Given the description of an element on the screen output the (x, y) to click on. 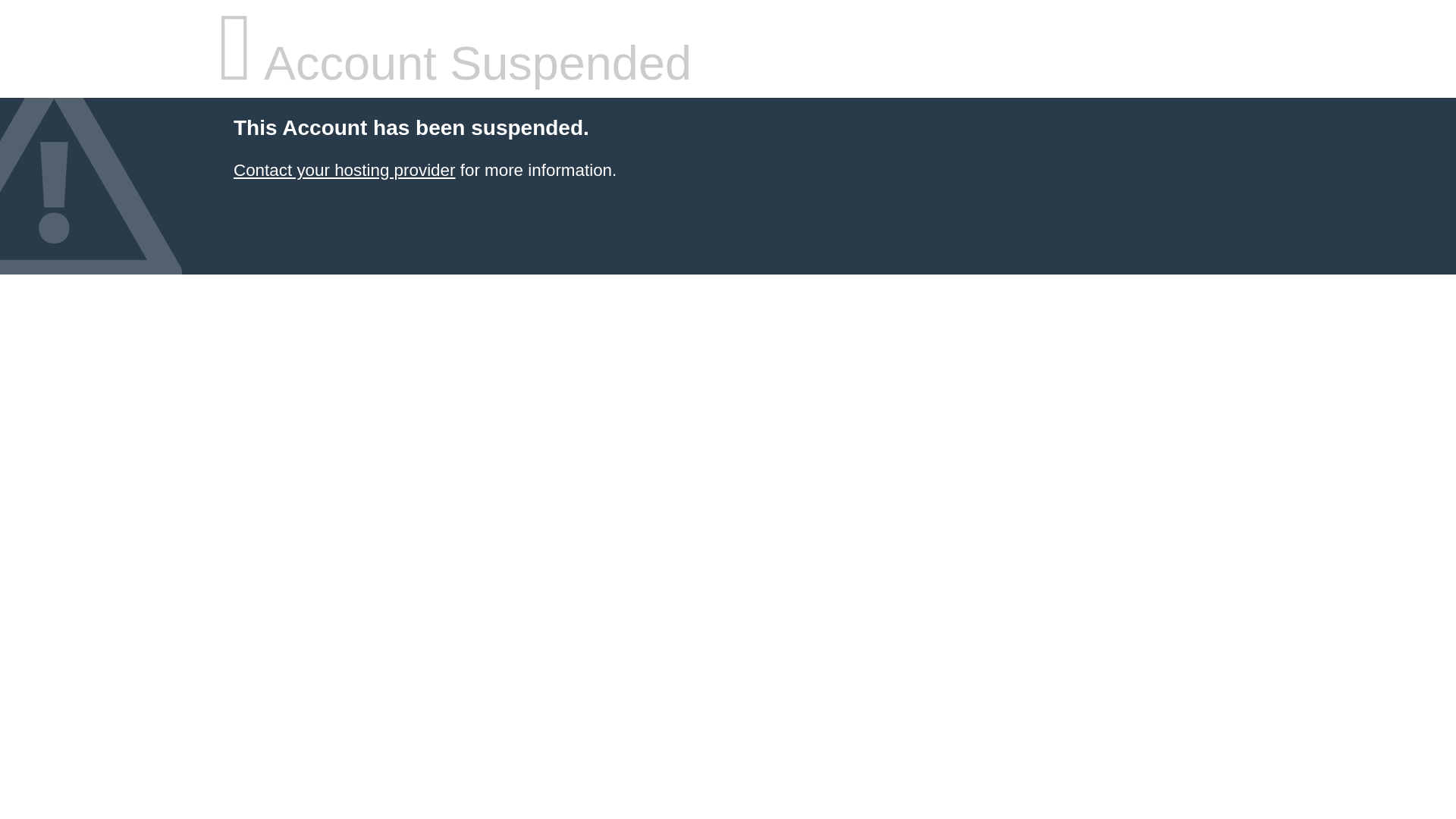
Contact your hosting provider (343, 169)
